Given the description of an element on the screen output the (x, y) to click on. 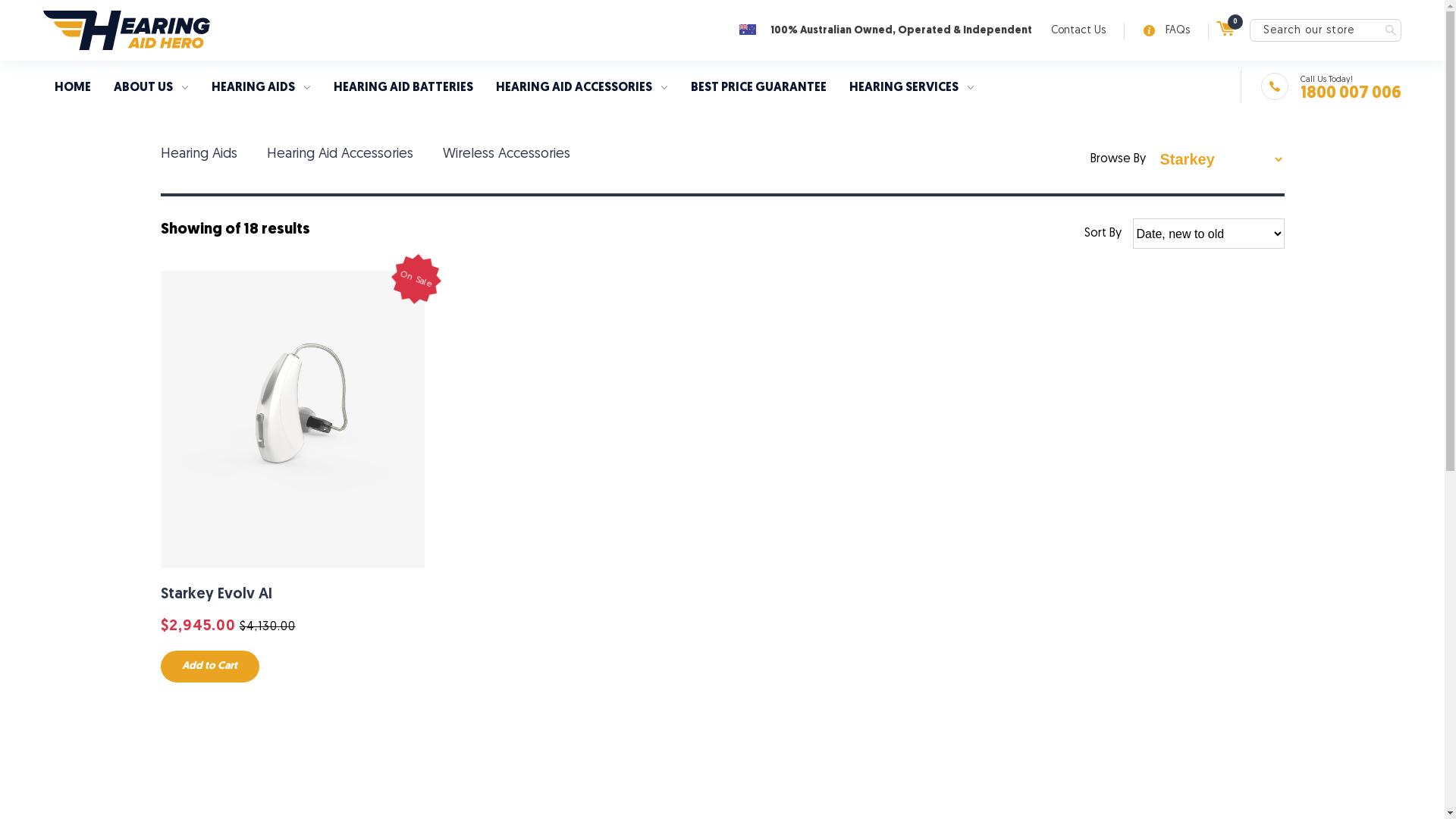
FAQs Element type: text (1166, 30)
Search Element type: text (1390, 29)
Add to Cart Element type: text (209, 666)
Hearing Aid Accessories Element type: text (339, 154)
Contact Us Element type: text (1078, 30)
HEARING SERVICES Element type: text (911, 93)
0 Element type: text (1225, 27)
HEARING AID BATTERIES Element type: text (403, 93)
HEARING AID ACCESSORIES Element type: text (581, 93)
ABOUT US Element type: text (150, 93)
Starkey Evolv AI Element type: text (216, 594)
HEARING AIDS Element type: text (260, 93)
HOME Element type: text (72, 93)
Call Us Today!
1800 007 006 Element type: text (1331, 88)
Wireless Accessories Element type: text (506, 154)
BEST PRICE GUARANTEE Element type: text (758, 93)
Hearing Aids Element type: text (198, 154)
